Given the description of an element on the screen output the (x, y) to click on. 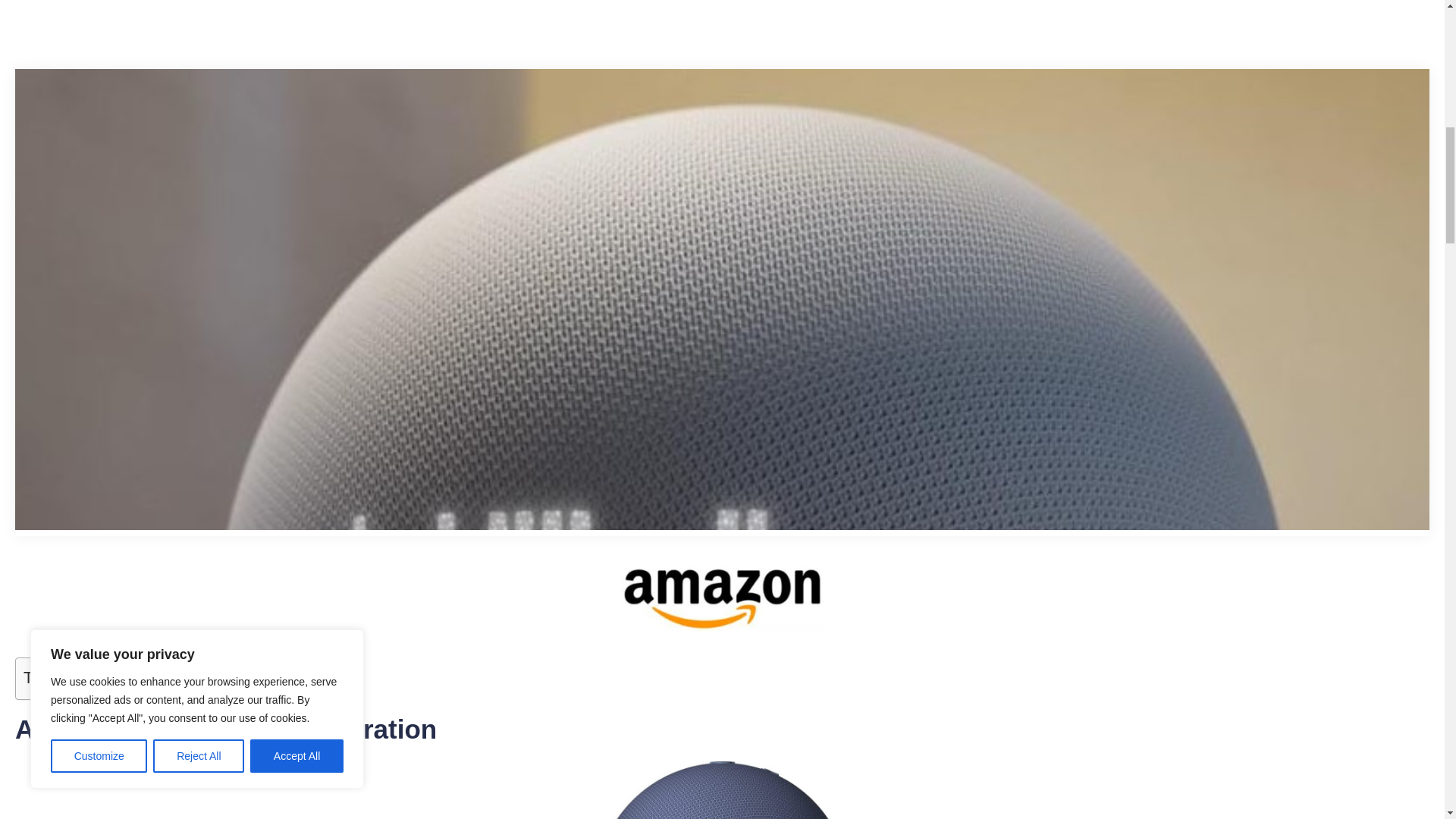
Advertisement (469, 34)
Amazon Echo Dot 5th Generation Quick Start Guide 2 (722, 596)
